Given the description of an element on the screen output the (x, y) to click on. 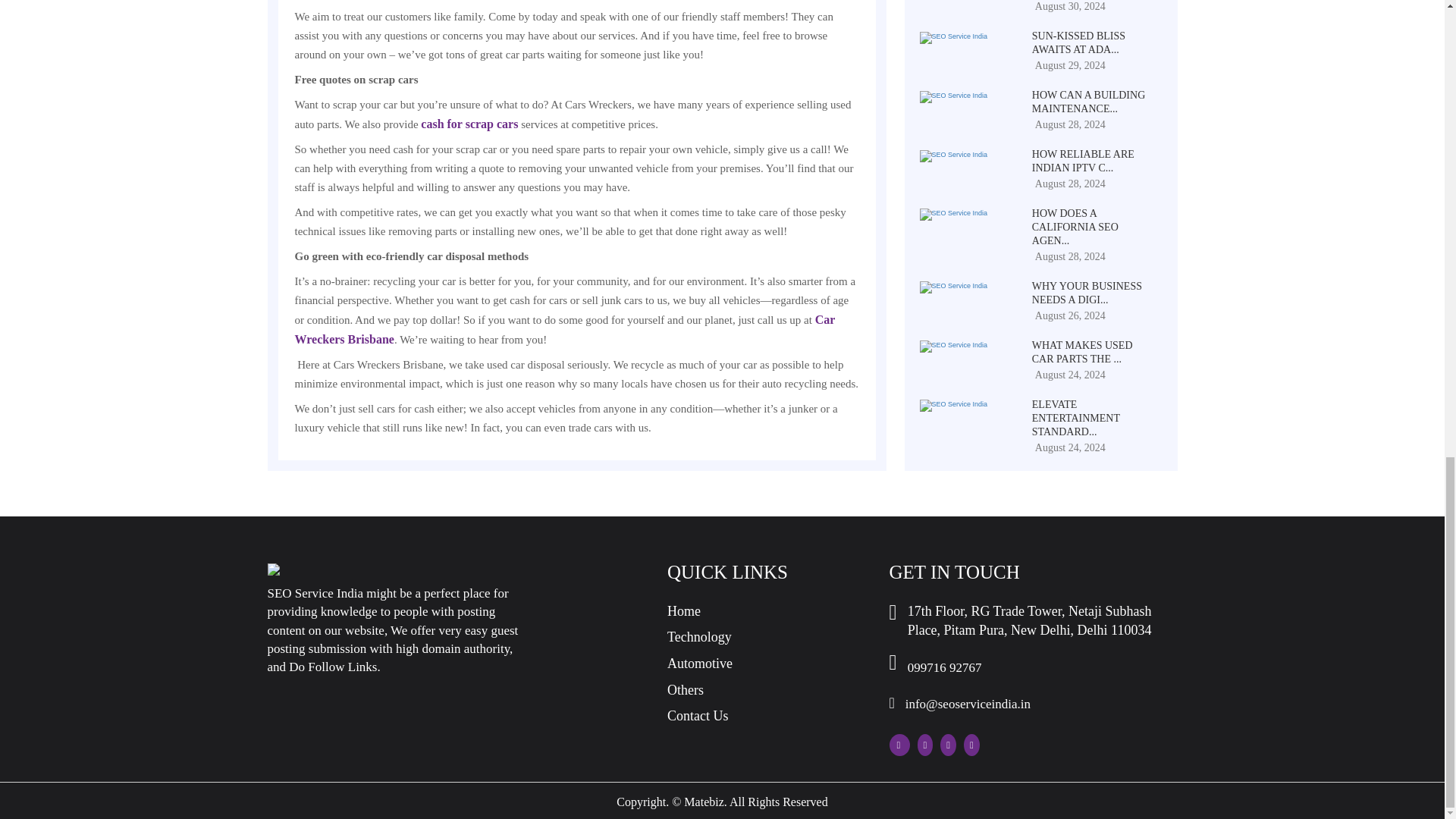
cash for scrap cars (469, 123)
Home (683, 611)
Technology (699, 636)
Car Wreckers Brisbane (564, 328)
